Given the description of an element on the screen output the (x, y) to click on. 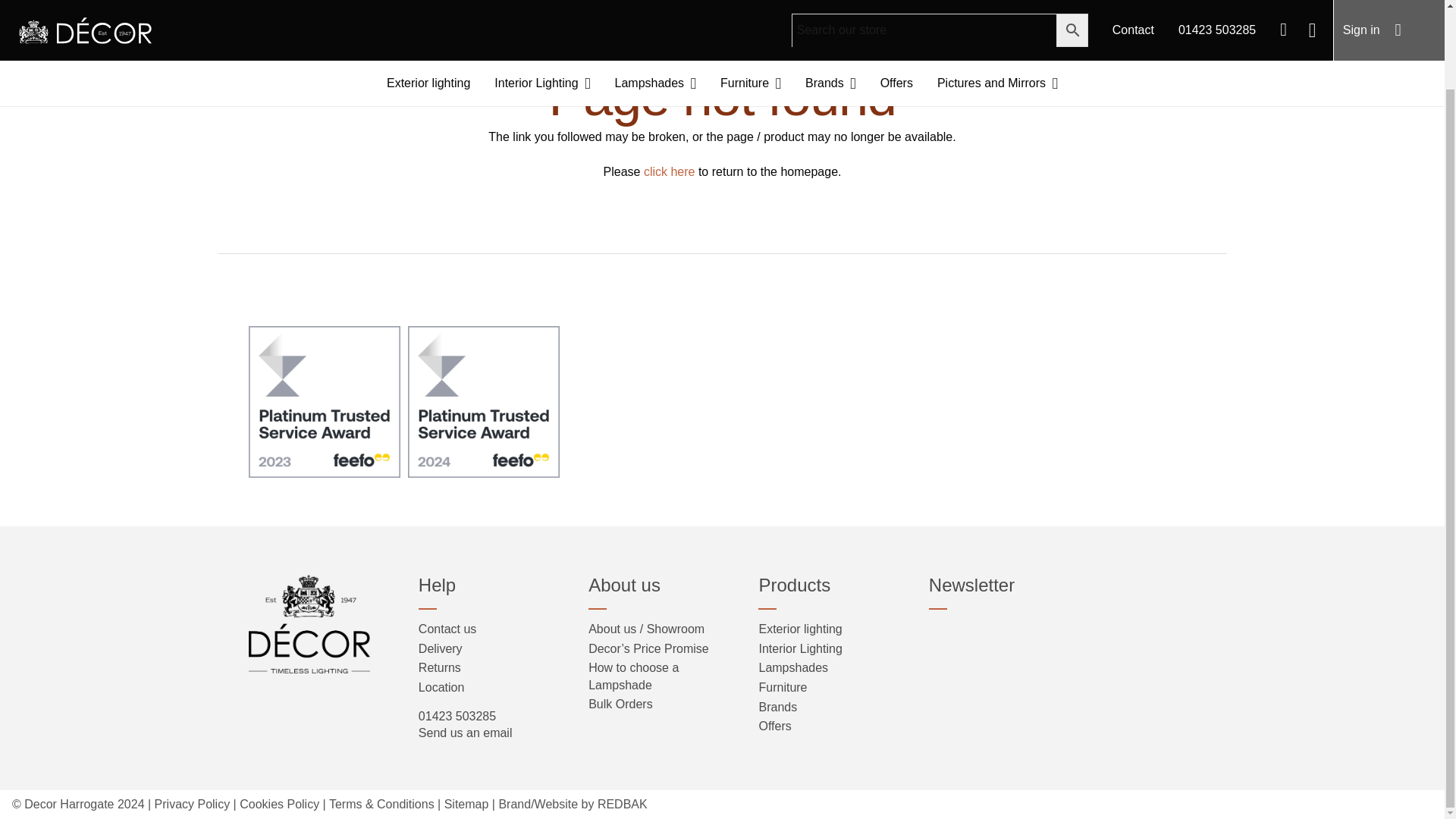
Interior Lighting (541, 8)
Lampshades (654, 8)
Exterior lighting (427, 8)
